Given the description of an element on the screen output the (x, y) to click on. 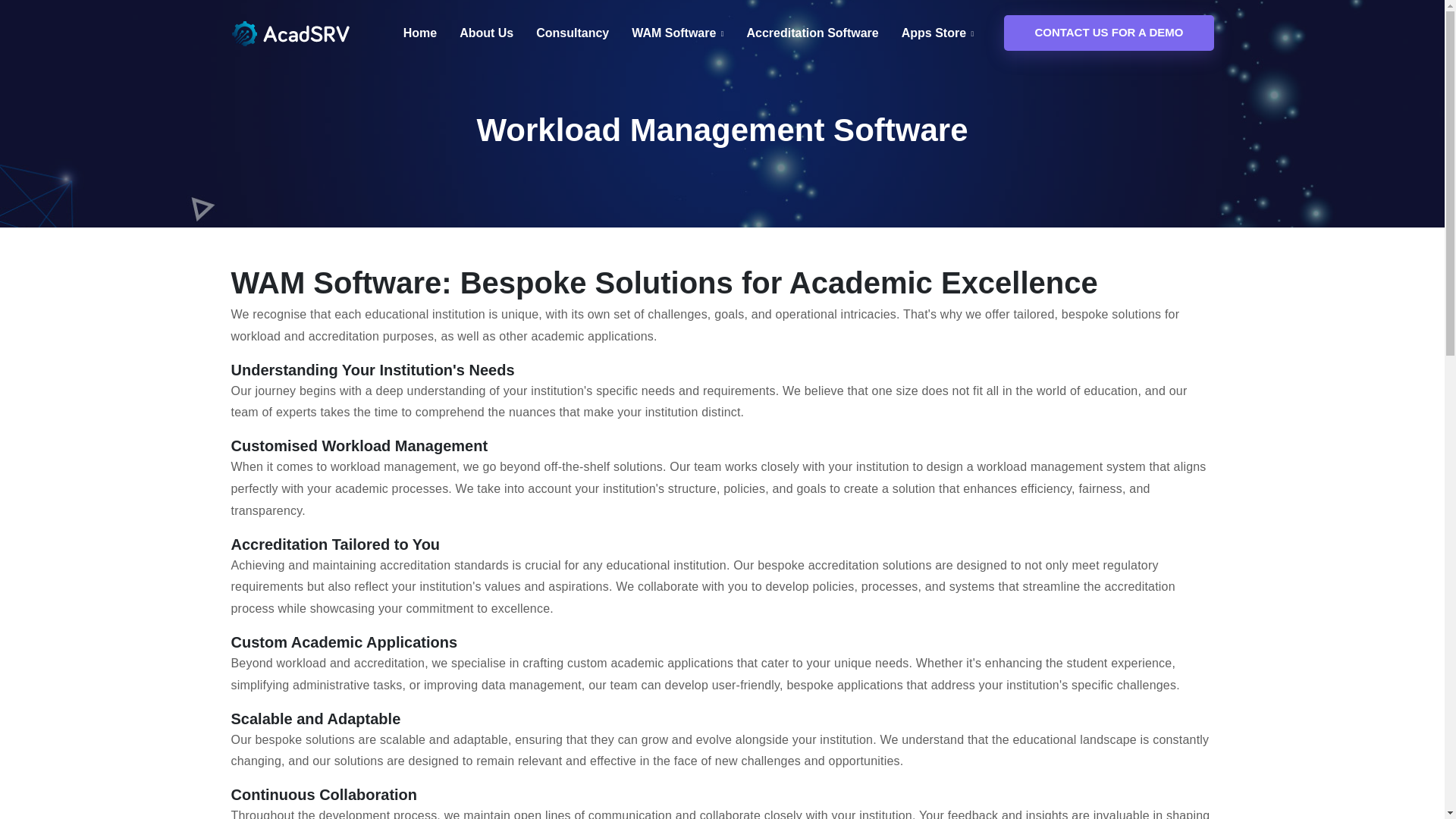
About Us (486, 33)
CONTACT US FOR A DEMO (1108, 32)
Consultancy (571, 33)
Home (419, 33)
Apps Store (937, 33)
Accreditation Software (811, 33)
WAM Software (677, 33)
